Given the description of an element on the screen output the (x, y) to click on. 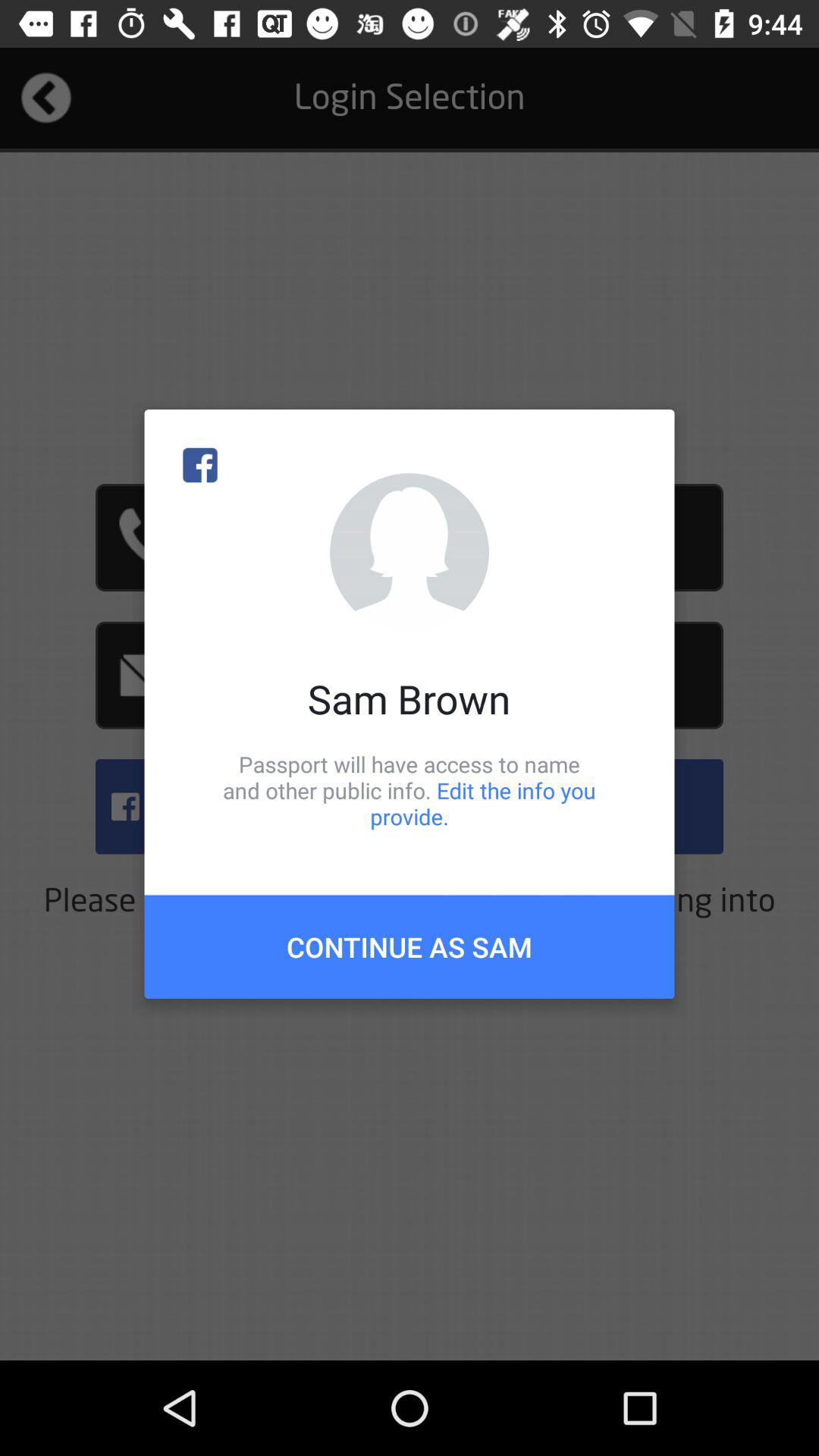
turn off the icon below sam brown item (409, 790)
